Given the description of an element on the screen output the (x, y) to click on. 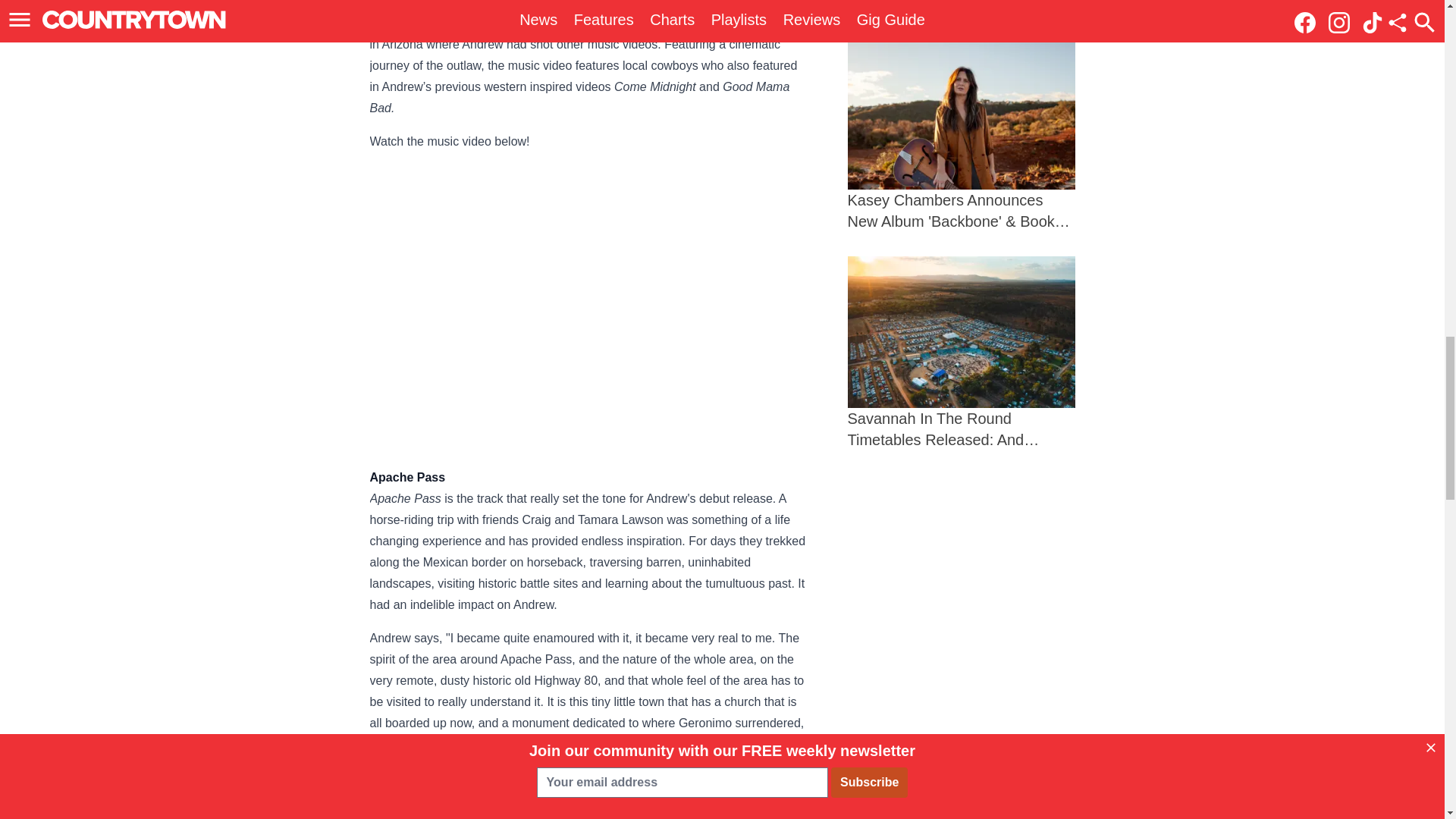
Jelly Roll Teams Up With mgk On 'Lonely Road' (961, 6)
